Given the description of an element on the screen output the (x, y) to click on. 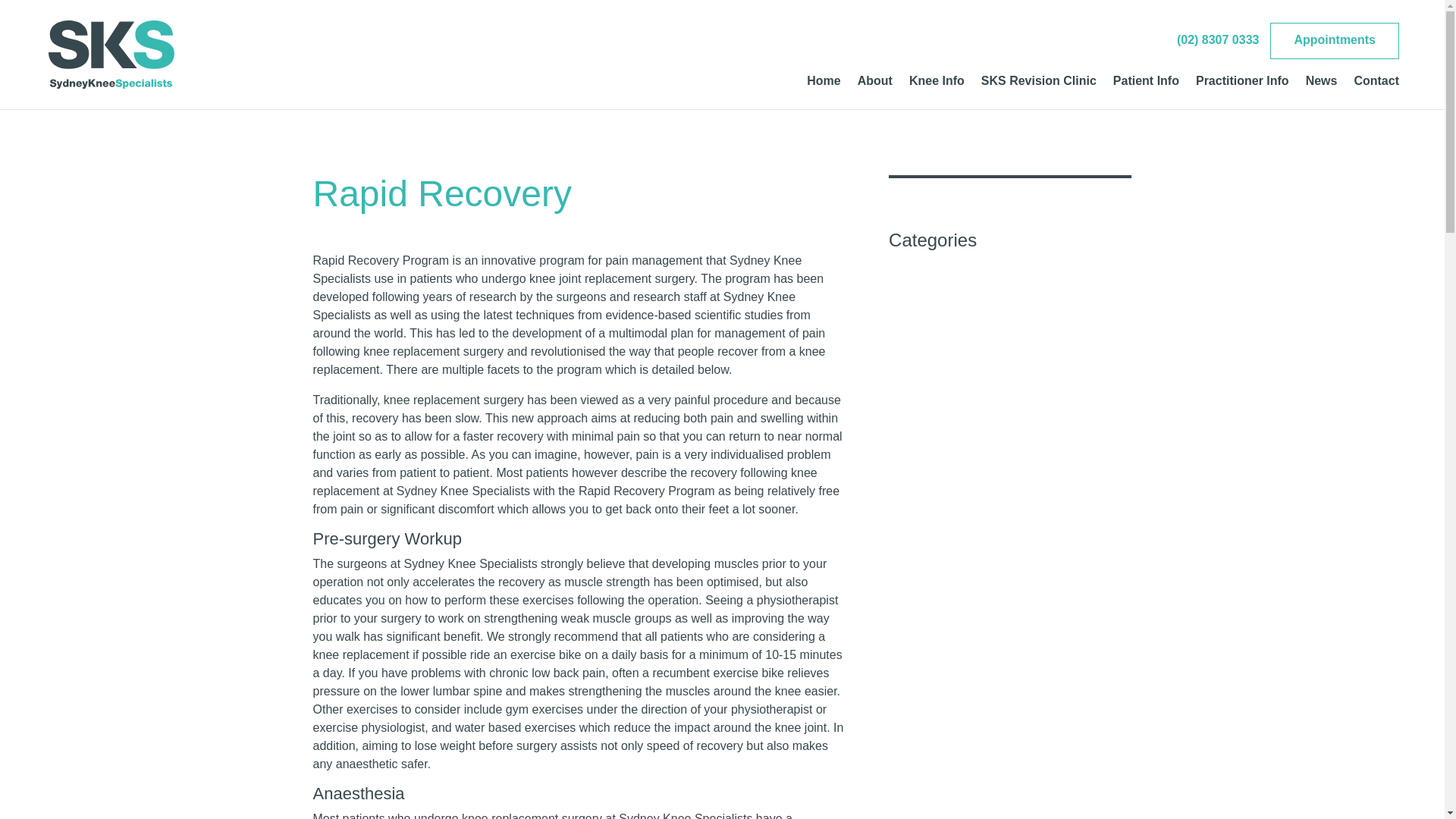
Home (823, 92)
About (874, 92)
SKS Revision Clinic (1038, 92)
Appointments (1334, 40)
Patient Info (1146, 92)
Knee Info (935, 92)
